Given the description of an element on the screen output the (x, y) to click on. 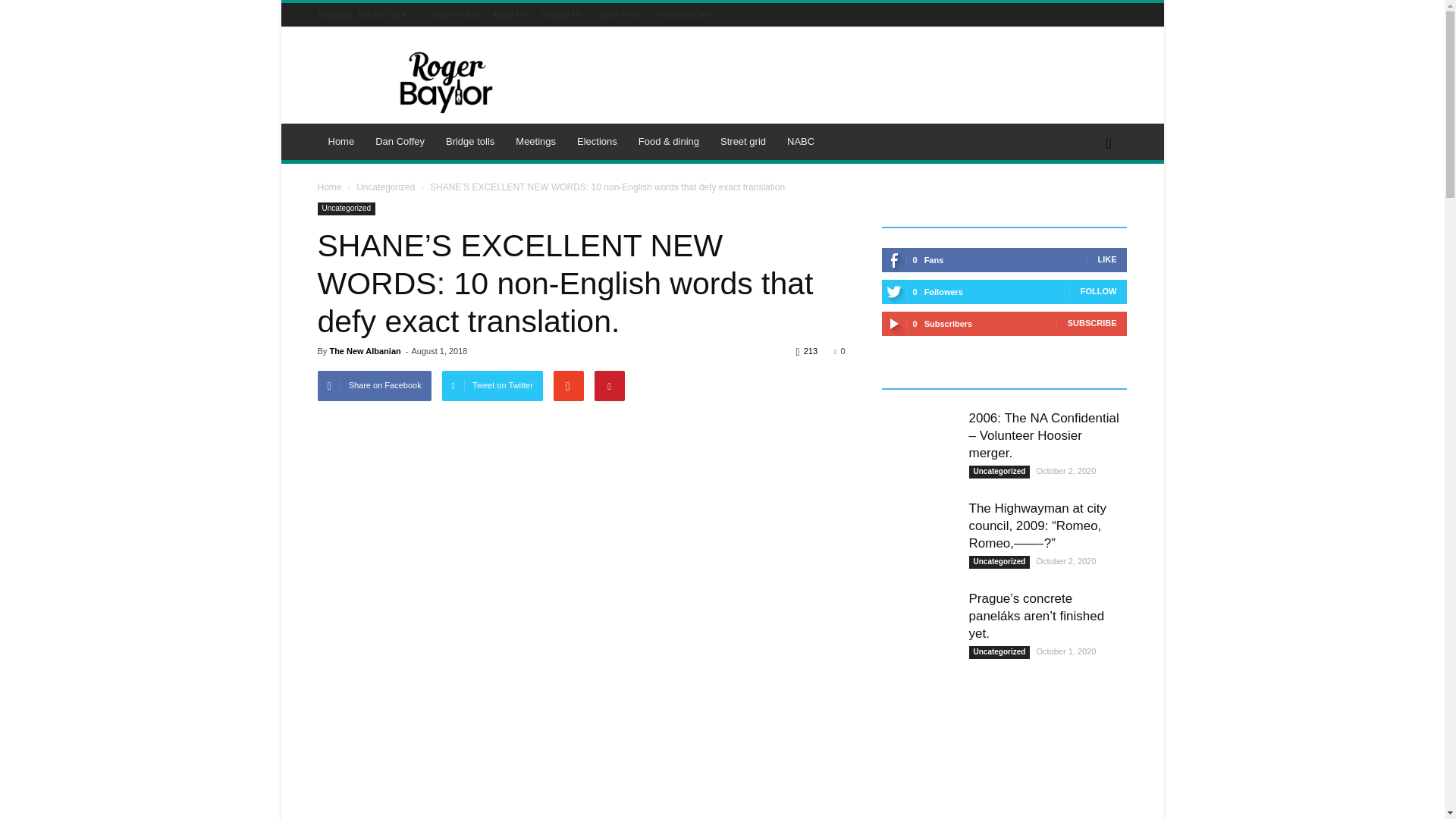
Food and Dine (684, 13)
Home (341, 141)
Instagram (1061, 13)
Facebook (1042, 13)
View all posts in Uncategorized (385, 186)
About Us (508, 13)
VKontakte (1117, 13)
Vimeo (1099, 13)
Behance (1023, 13)
Latest Posts (619, 13)
Dan Coffey (400, 141)
Contact Us (560, 13)
Twitter (1080, 13)
